Given the description of an element on the screen output the (x, y) to click on. 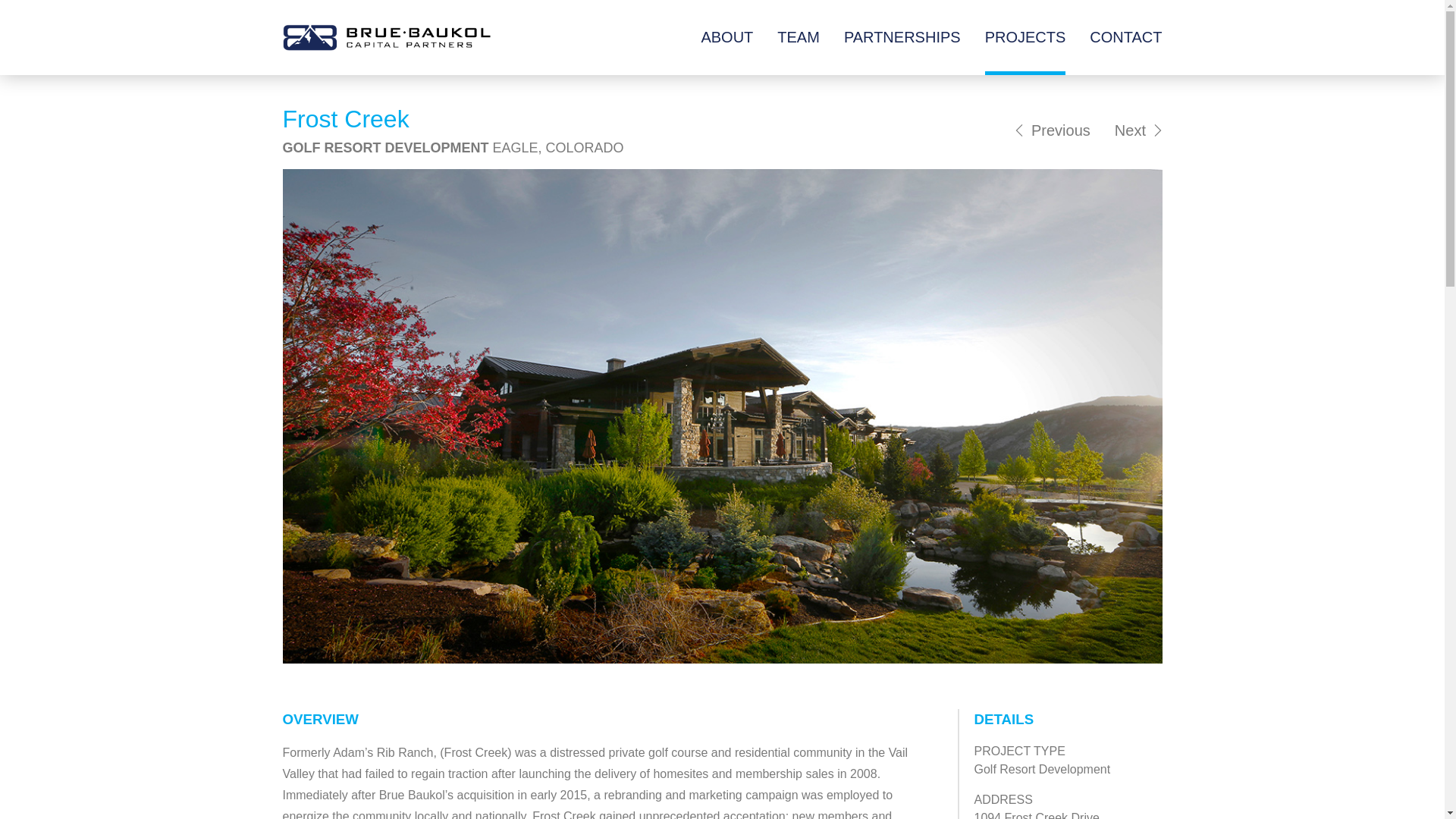
Next (1138, 130)
Previous (1051, 130)
PARTNERSHIPS (902, 37)
PROJECTS (1025, 37)
CONTACT (1125, 37)
